Given the description of an element on the screen output the (x, y) to click on. 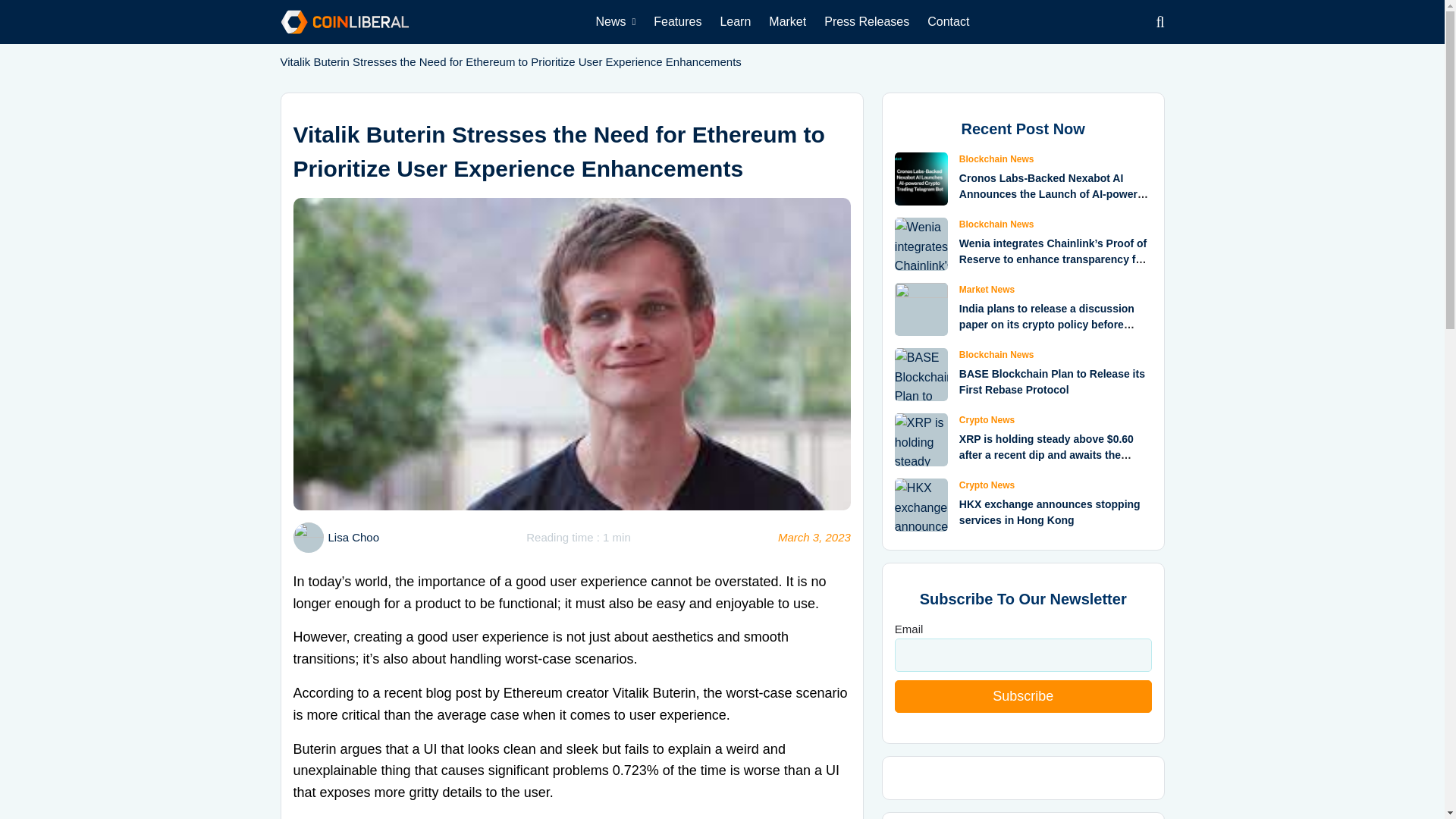
Market (787, 21)
Learn (735, 21)
News (615, 21)
Features (677, 21)
Market News (986, 289)
Blockchain News (996, 224)
Learn (735, 21)
Contact (948, 21)
BASE Blockchain Plan to Release its First Rebase Protocol (1051, 381)
Press Releases (866, 21)
Crypto News (986, 419)
Posts by Lisa Choo (352, 537)
Features (677, 21)
Press Releases (866, 21)
Blockchain News (996, 158)
